Given the description of an element on the screen output the (x, y) to click on. 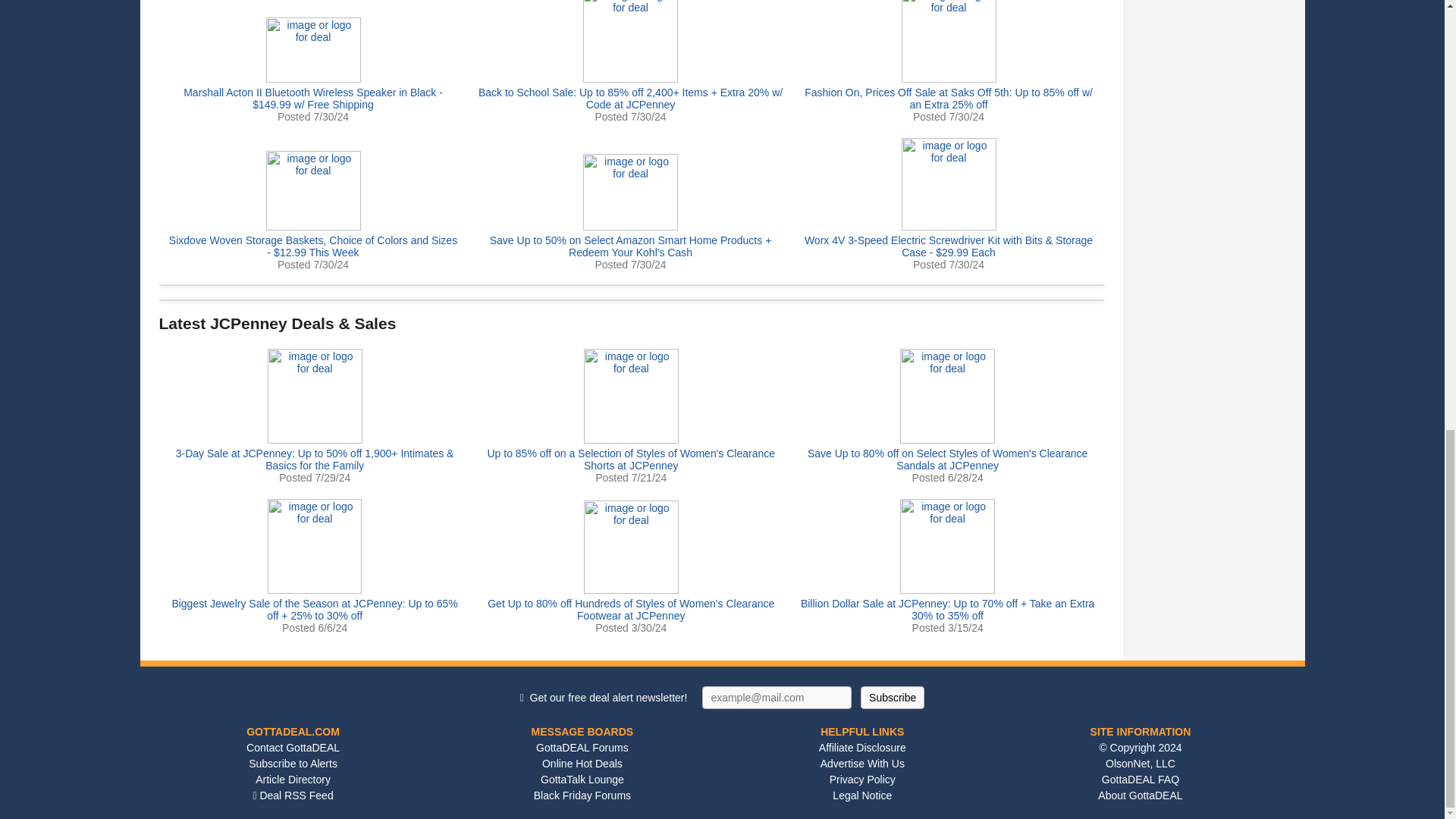
Subscribe (892, 697)
